Given the description of an element on the screen output the (x, y) to click on. 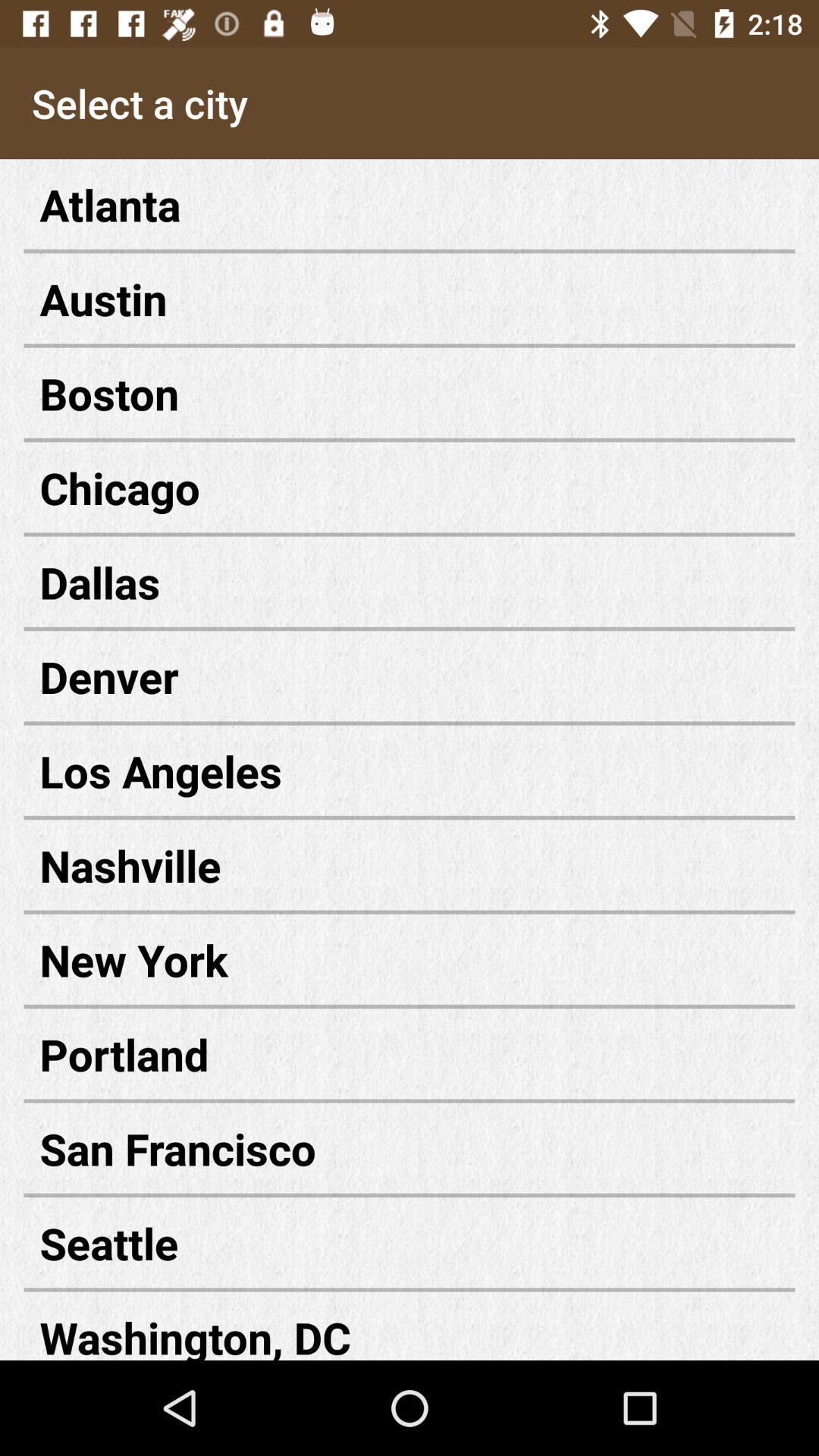
launch icon below the san francisco icon (409, 1242)
